Given the description of an element on the screen output the (x, y) to click on. 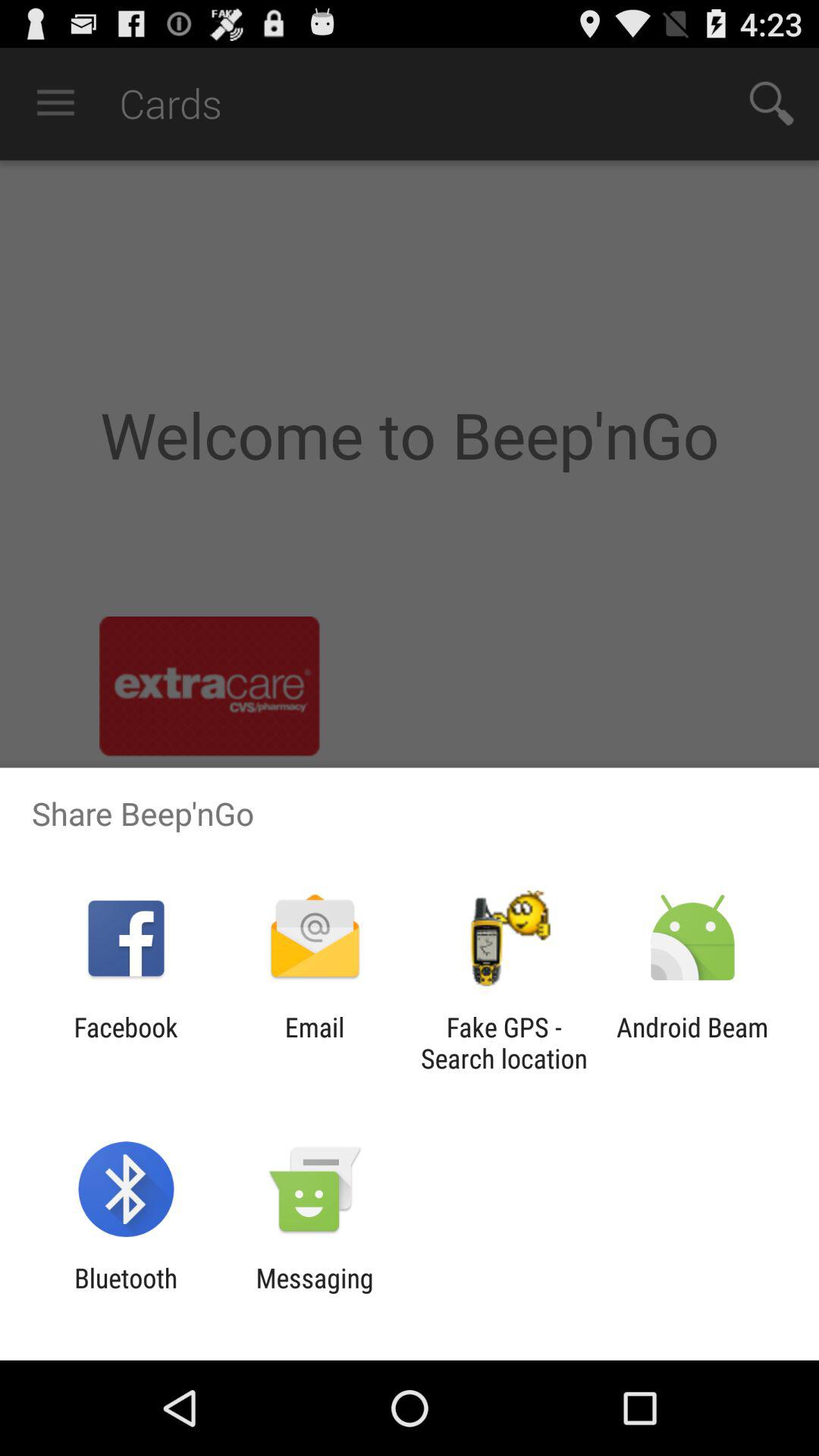
press item to the left of fake gps search item (314, 1042)
